Given the description of an element on the screen output the (x, y) to click on. 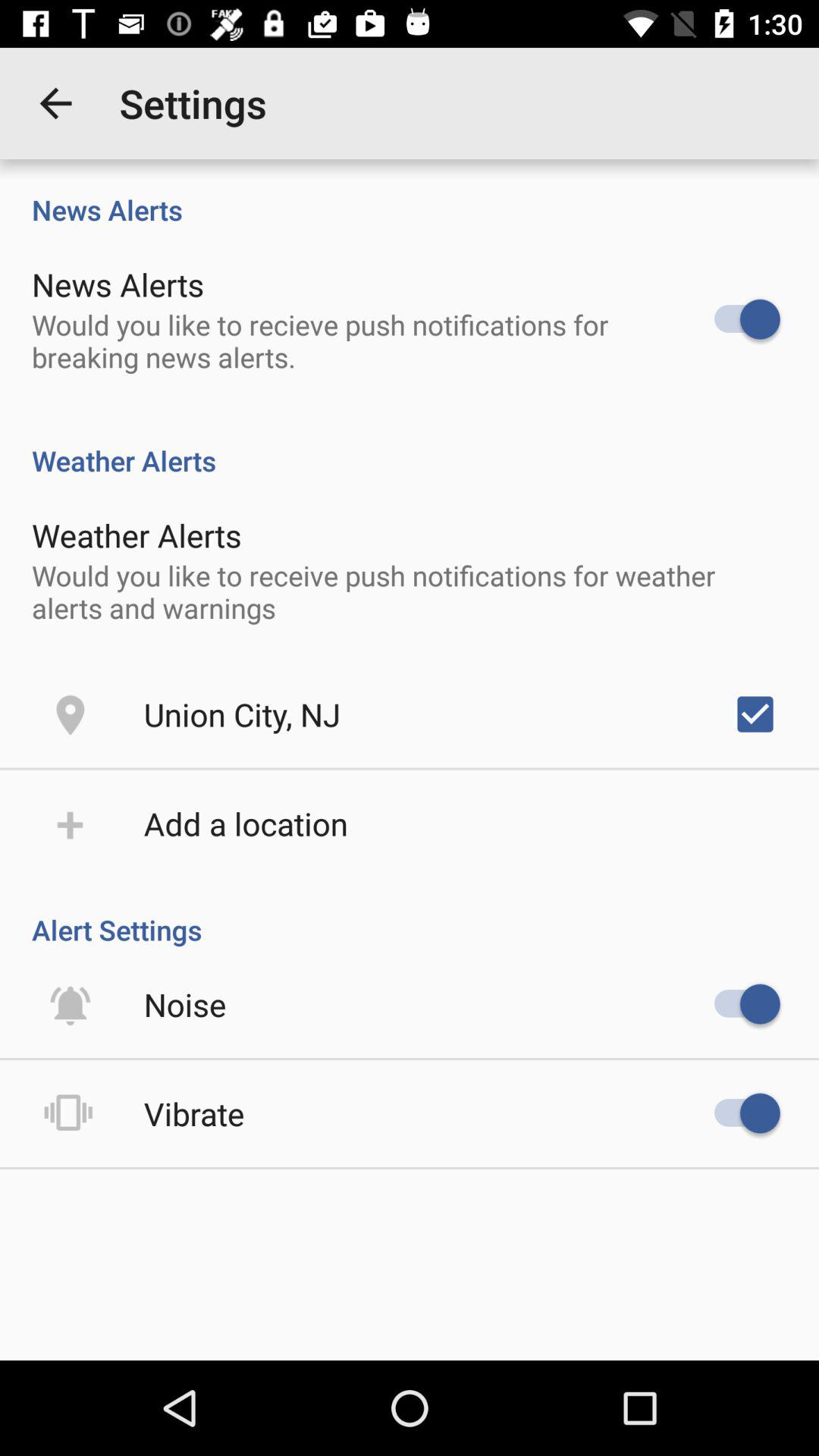
select the icon above vibrate (184, 1004)
